Given the description of an element on the screen output the (x, y) to click on. 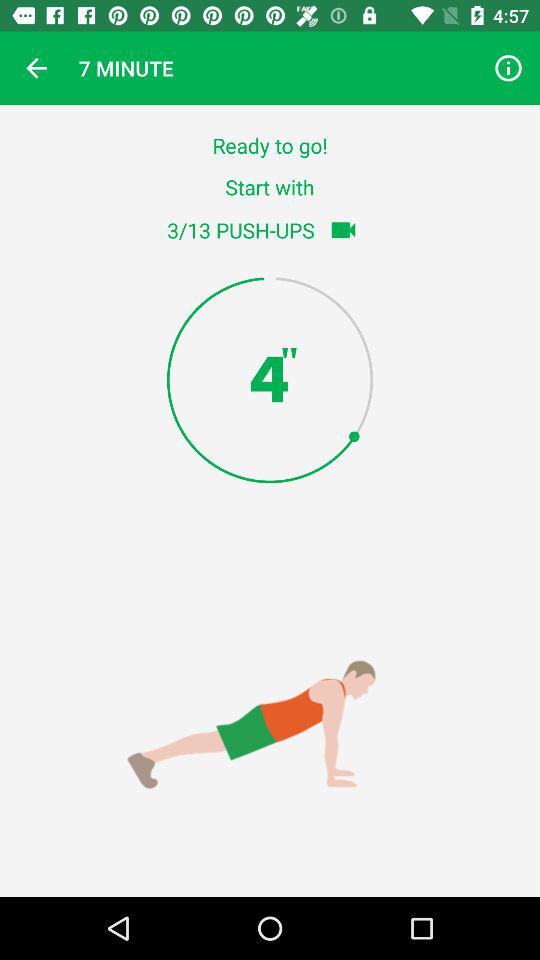
press the icon to the right of the 7 minute item (508, 67)
